Given the description of an element on the screen output the (x, y) to click on. 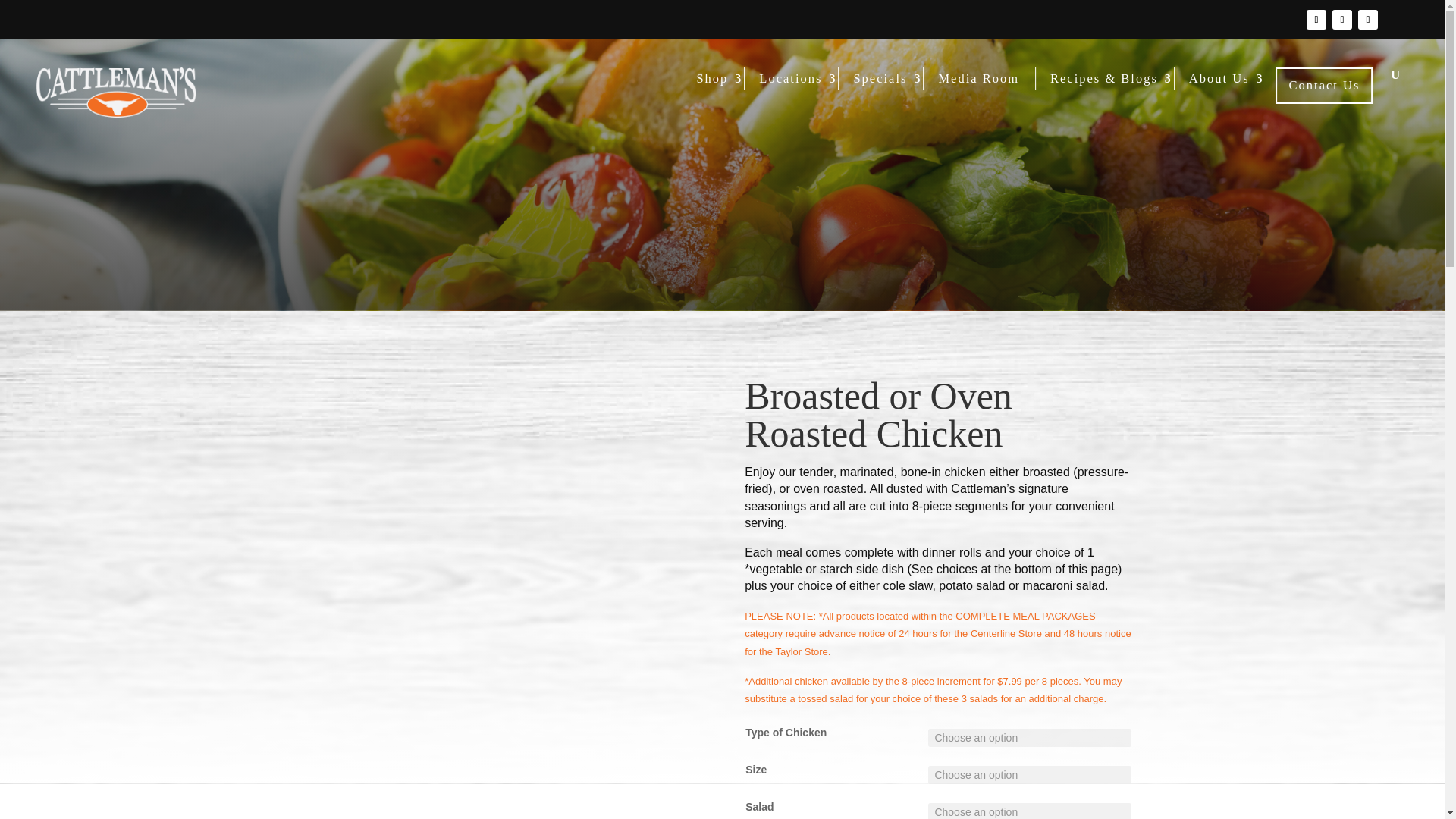
Locations (790, 78)
Contact Us (1324, 85)
Follow on Youtube (1367, 19)
Follow on LinkedIn (1342, 19)
Follow on Facebook (1316, 19)
Specials (879, 78)
Shop (711, 78)
About Us (1218, 78)
Media Room (978, 78)
